Given the description of an element on the screen output the (x, y) to click on. 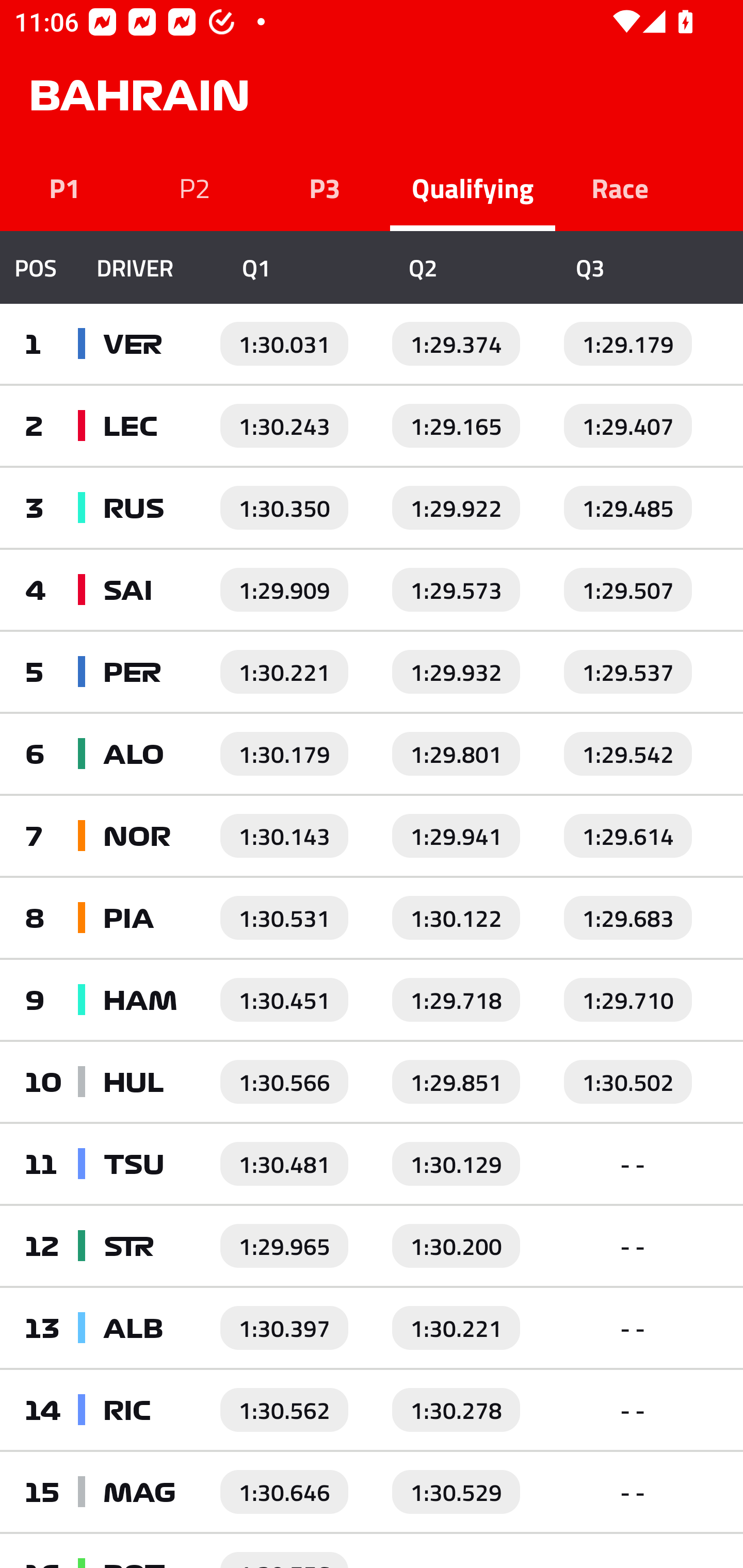
P1 (65, 187)
P2 (195, 187)
P3 (325, 187)
Race (620, 187)
